Given the description of an element on the screen output the (x, y) to click on. 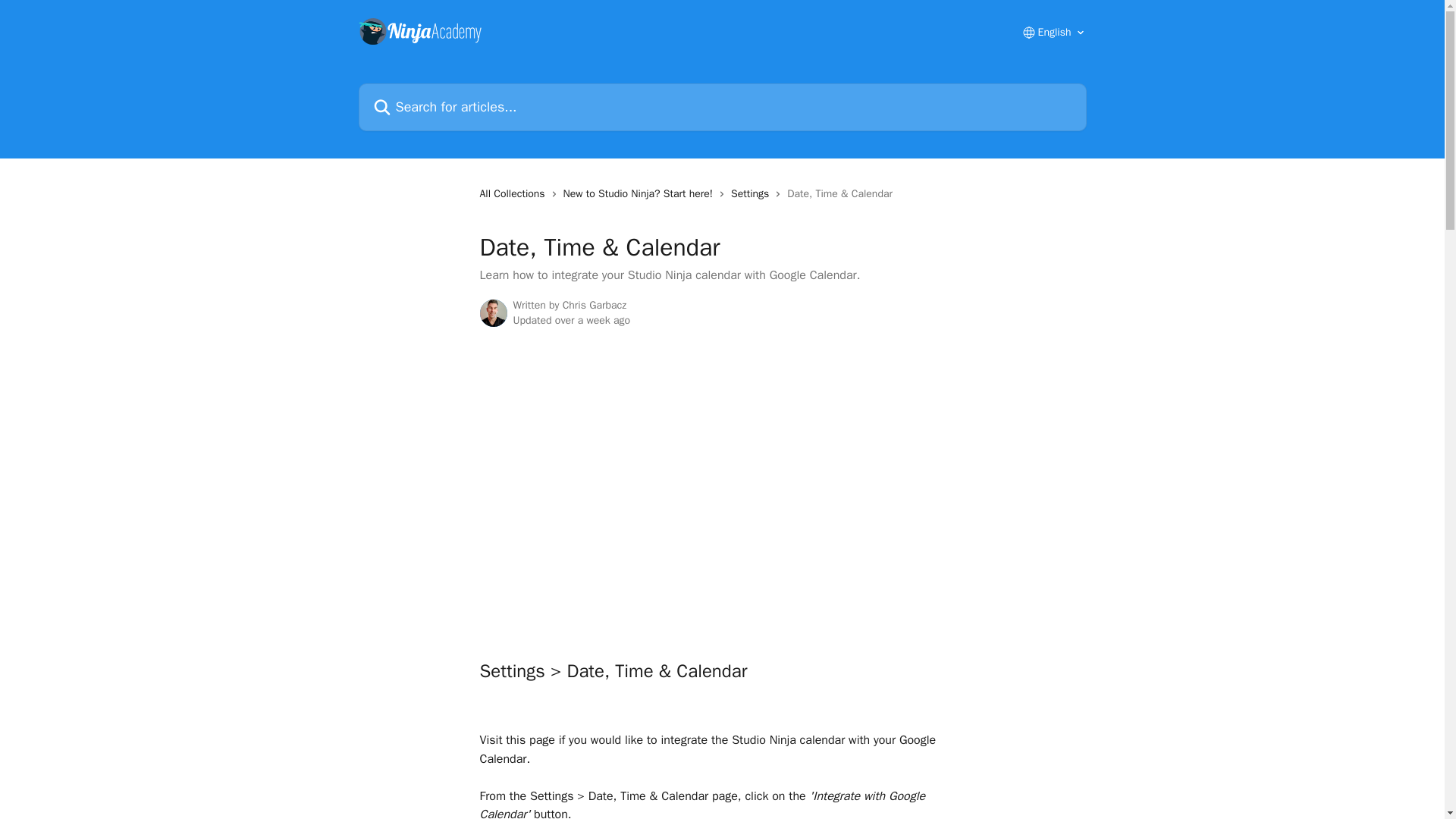
All Collections (514, 193)
Settings (752, 193)
New to Studio Ninja? Start here! (641, 193)
